Given the description of an element on the screen output the (x, y) to click on. 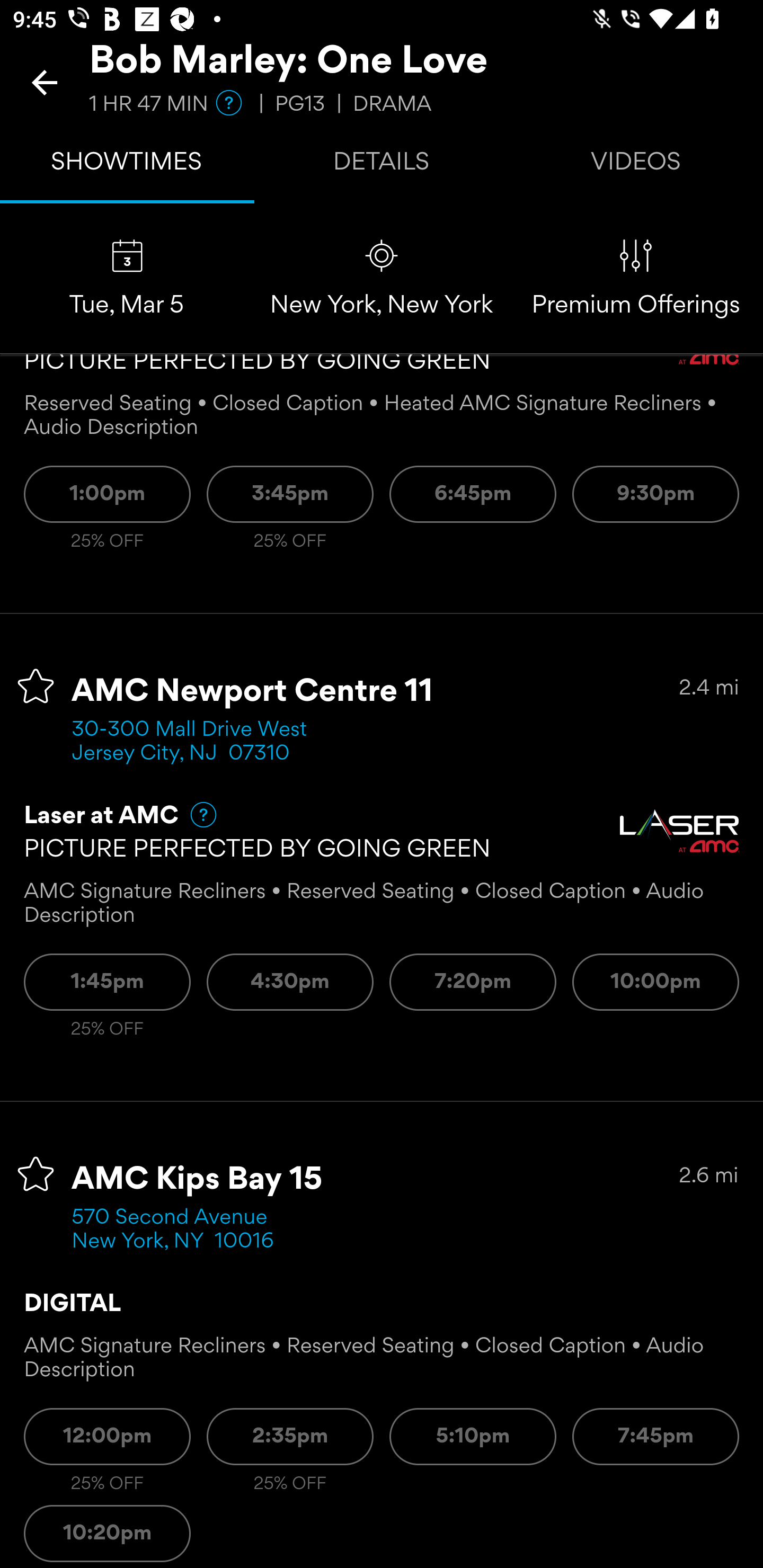
Back (44, 82)
SHOWTIMES
Tab 1 of 3 (127, 165)
DETAILS
Tab 2 of 3 (381, 165)
VIDEOS
Tab 3 of 3 (635, 165)
Change selected day
Tue, Mar 5 (127, 279)
Change location
New York, New York (381, 279)
Premium Offerings
Premium Offerings (635, 279)
AMC Newport Centre 11 (252, 692)
30-300 Mall Drive West  
Jersey City, NJ  07310 (195, 742)
Help (195, 814)
AMC Kips Bay 15 (196, 1179)
570 Second Avenue  
New York, NY  10016 (175, 1229)
